Given the description of an element on the screen output the (x, y) to click on. 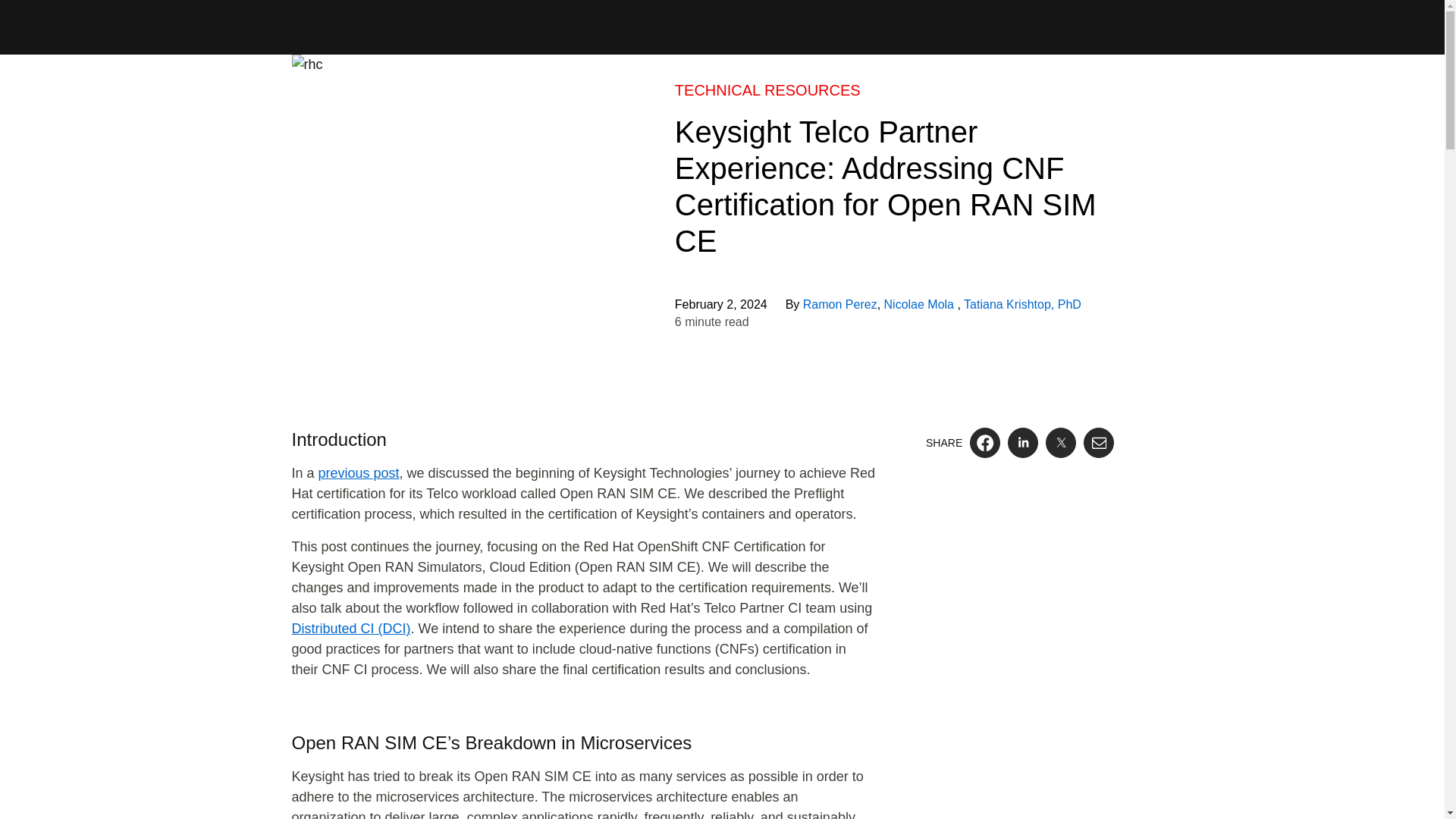
Articles by Ramon Perez (840, 304)
Articles by Nicolae Mola  (920, 304)
Articles by Tatiana Krishtop, PhD (1022, 304)
